Given the description of an element on the screen output the (x, y) to click on. 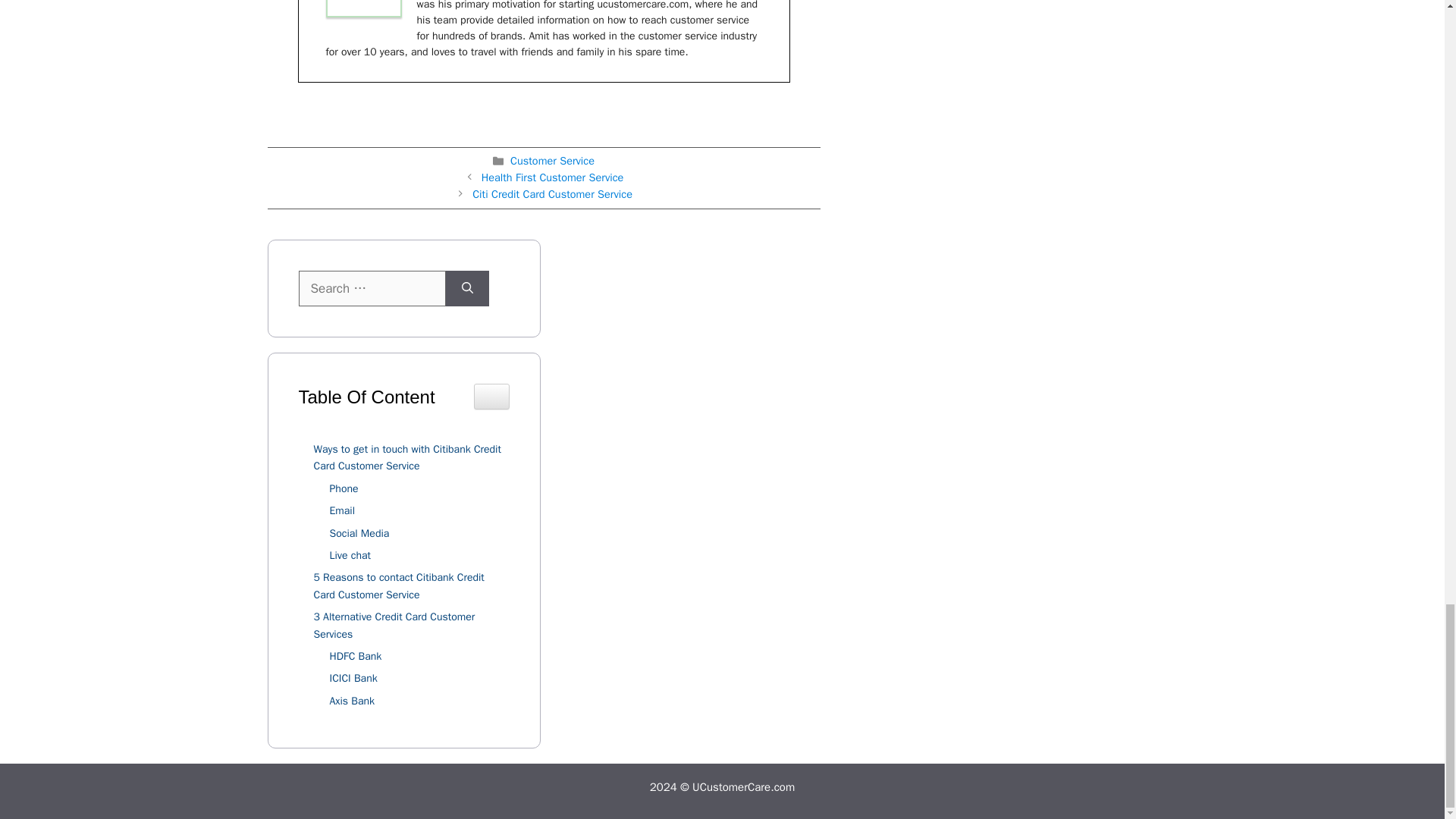
Health First Customer Service (552, 177)
Previous (552, 177)
Citi Credit Card Customer Service (551, 193)
Customer Service (552, 160)
